Given the description of an element on the screen output the (x, y) to click on. 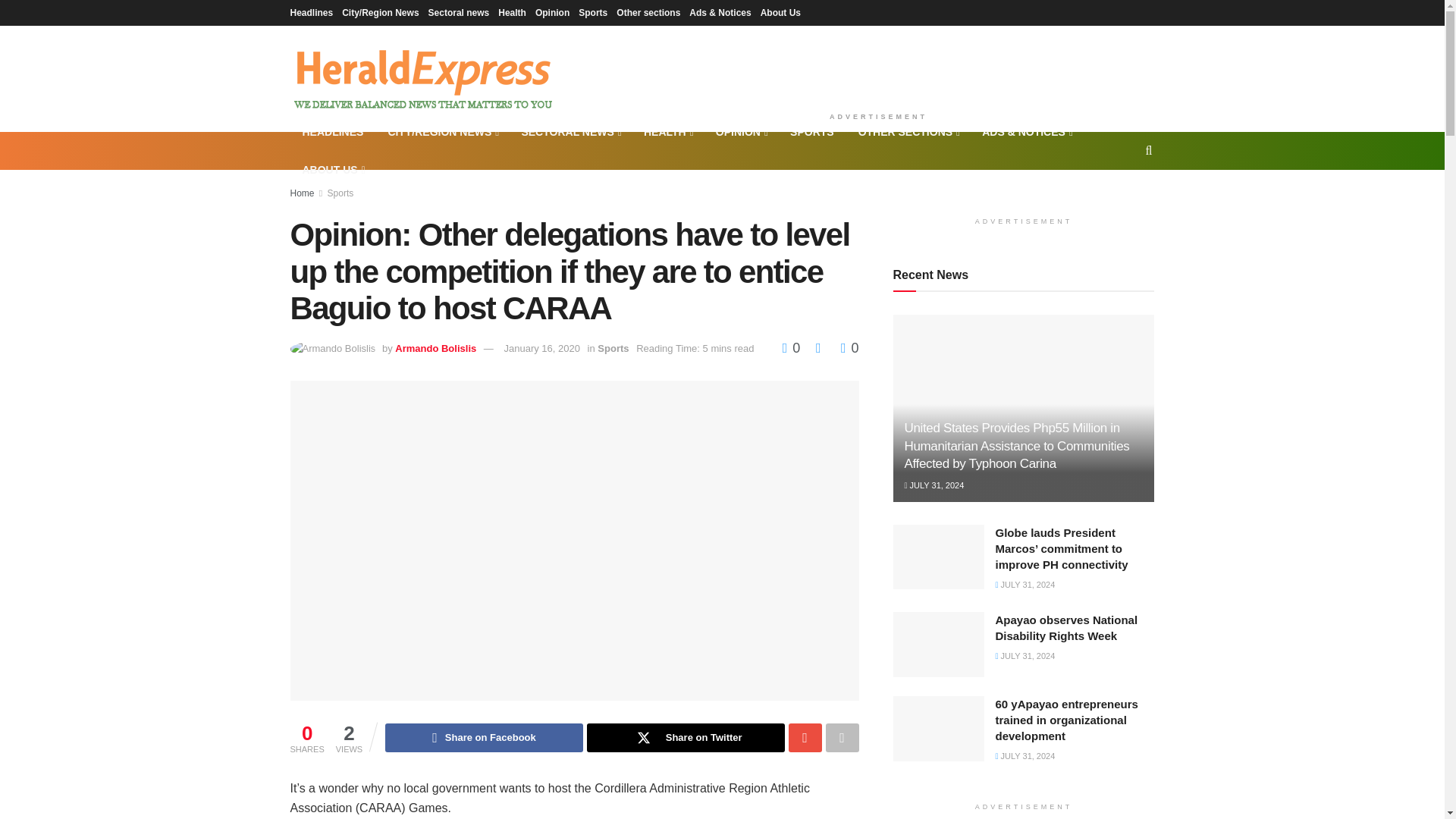
Sectoral news (458, 12)
Other sections (647, 12)
Health (511, 12)
About Us (780, 12)
Opinion (552, 12)
Sports (592, 12)
Headlines (311, 12)
